Given the description of an element on the screen output the (x, y) to click on. 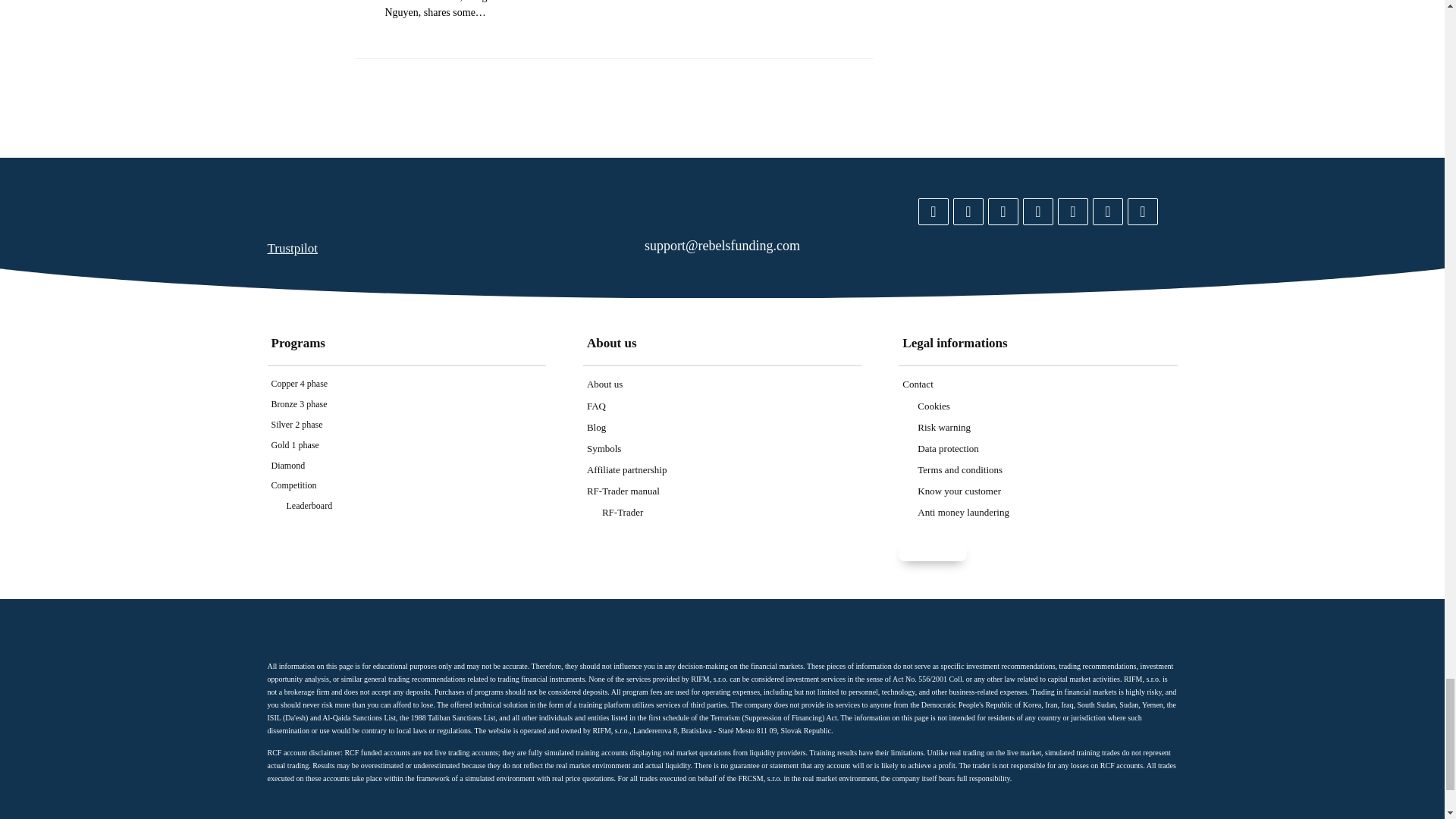
RF nove (405, 209)
